Given the description of an element on the screen output the (x, y) to click on. 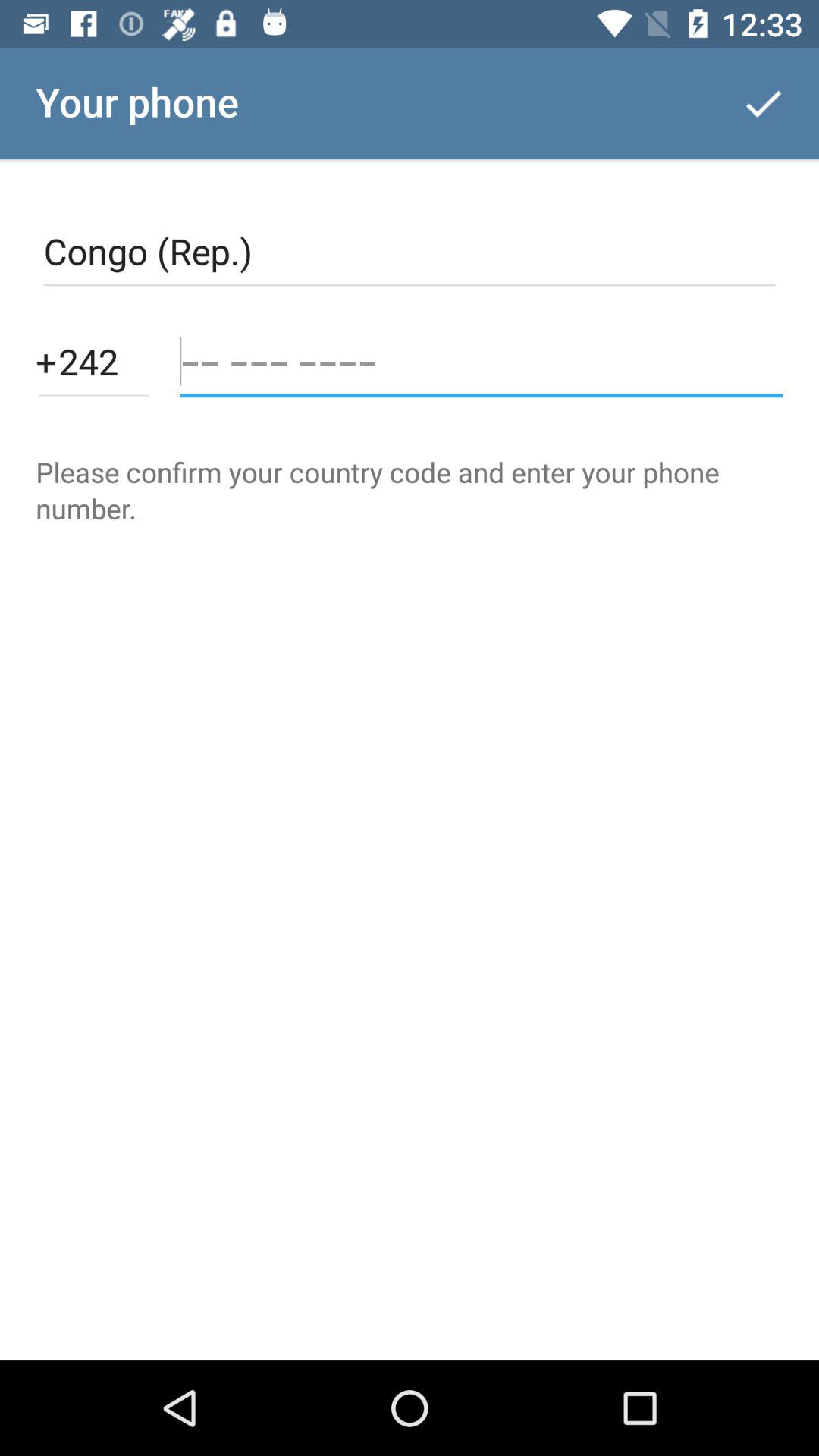
enter a phone number (481, 361)
